Given the description of an element on the screen output the (x, y) to click on. 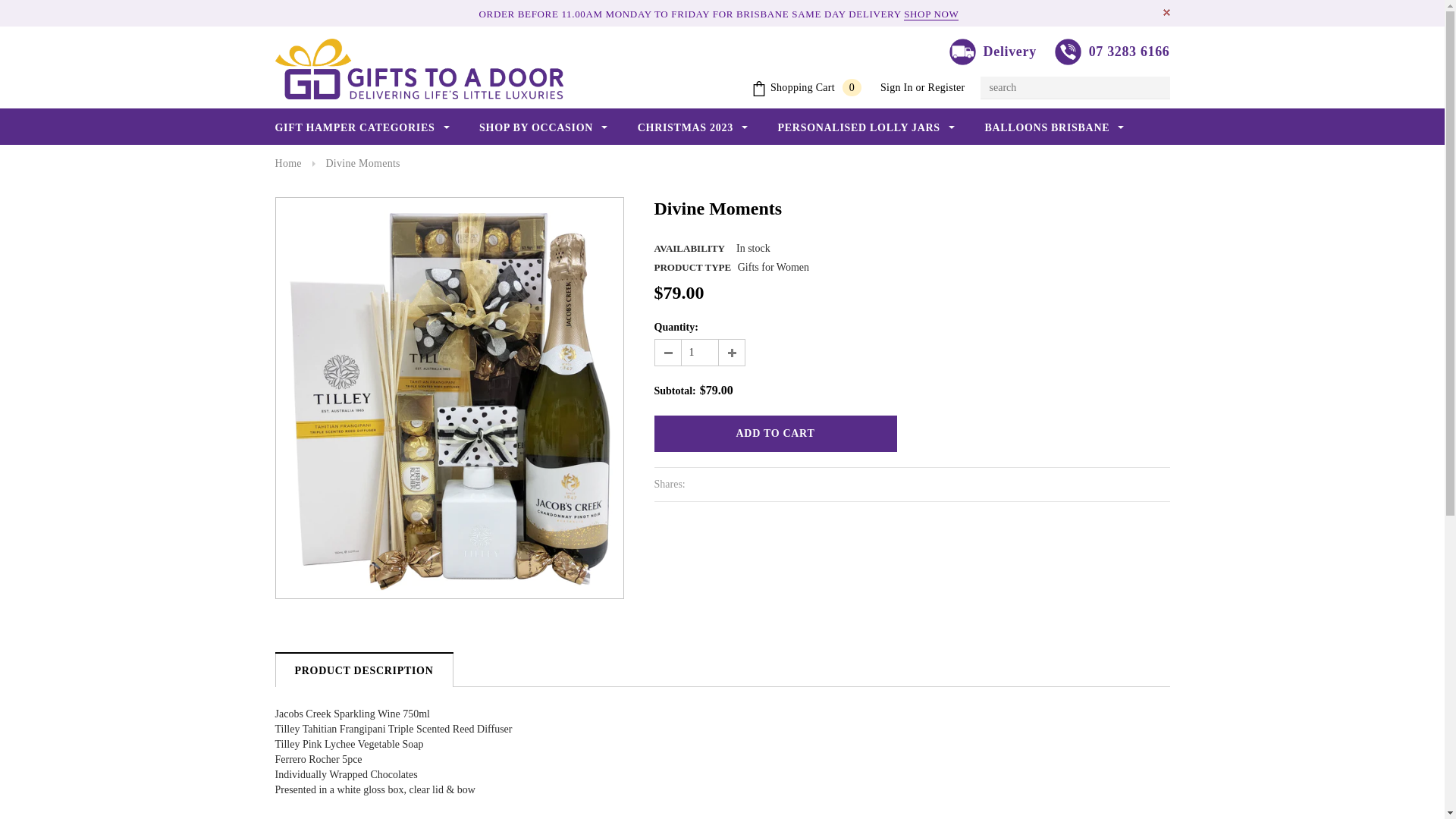
Sign In Element type: text (896, 87)
Register Element type: text (946, 87)
SHOP NOW Element type: text (930, 14)
07 3283 6166 Element type: text (1112, 52)
Home Element type: text (287, 163)
BALLOONS BRISBANE Element type: text (1053, 127)
PRODUCT DESCRIPTION Element type: text (363, 670)
PERSONALISED LOLLY JARS Element type: text (866, 127)
Add to Cart Element type: text (774, 433)
CLOSE Element type: text (1166, 12)
Shopping Cart 0 Element type: text (806, 87)
Delivery Element type: text (992, 52)
GIFT HAMPER CATEGORIES Element type: text (361, 127)
SHOP BY OCCASION Element type: text (543, 127)
CHRISTMAS 2023 Element type: text (692, 127)
